Given the description of an element on the screen output the (x, y) to click on. 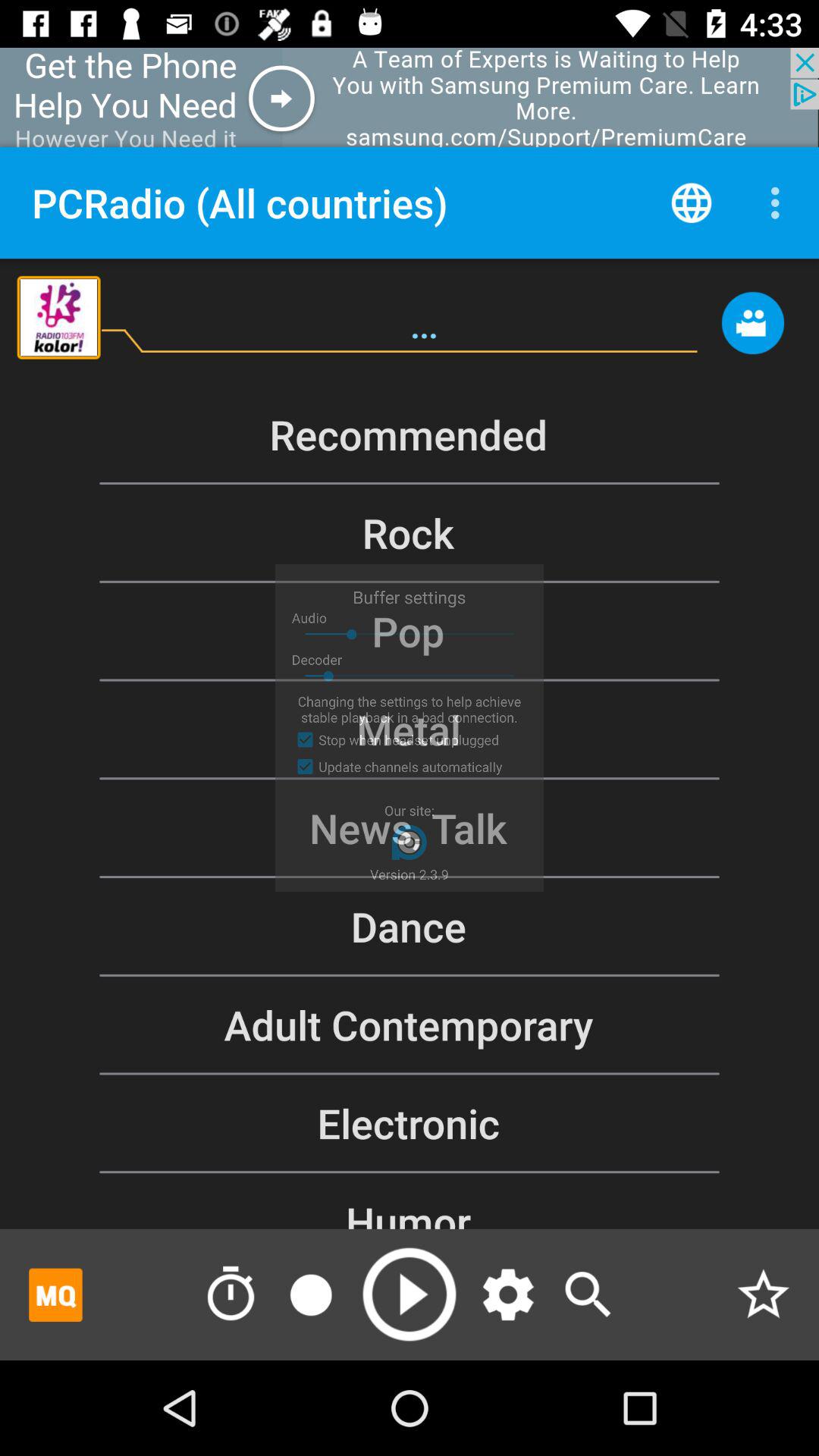
go to countries (691, 202)
